Given the description of an element on the screen output the (x, y) to click on. 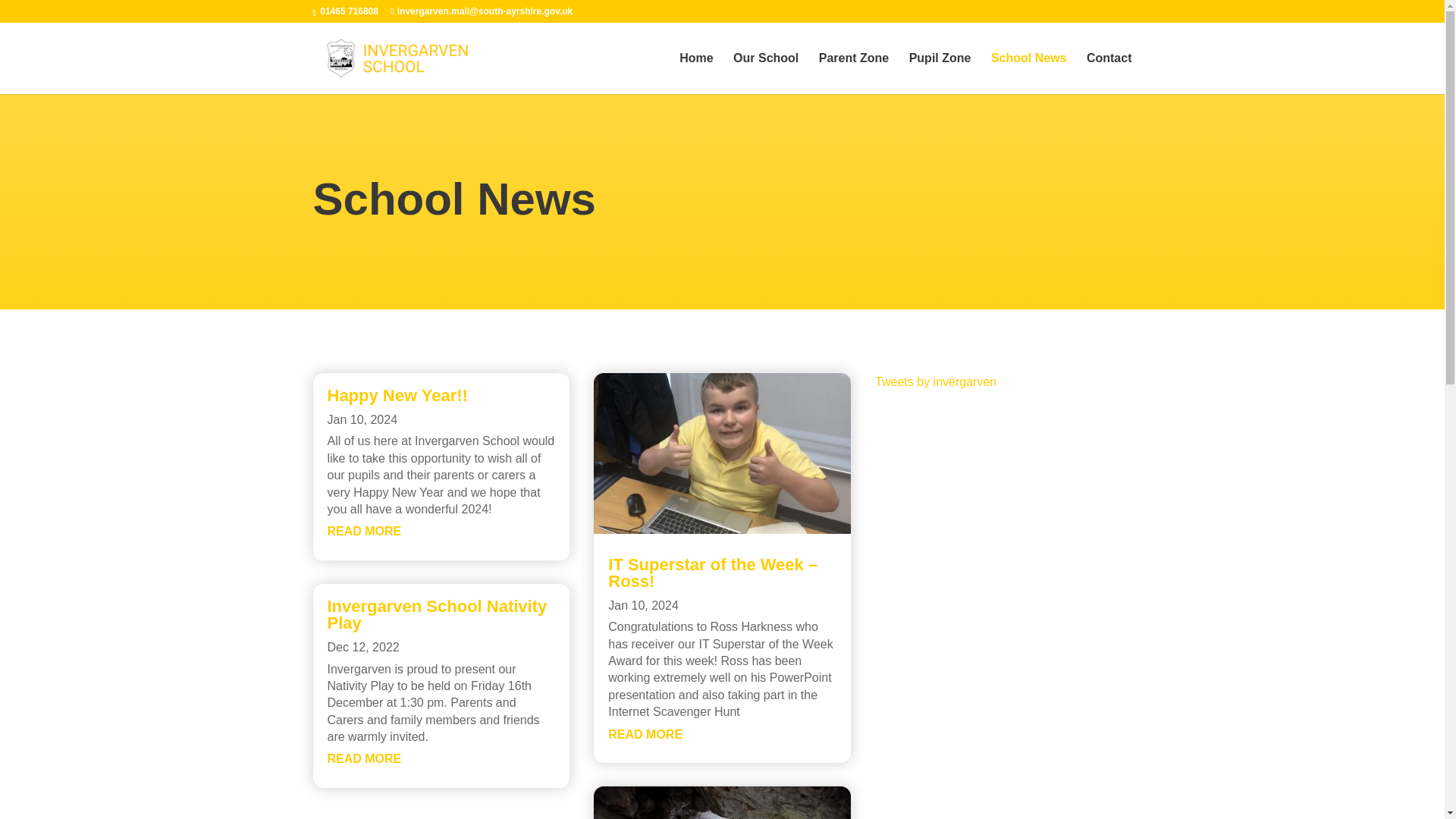
READ MORE (645, 734)
Parent Zone (853, 73)
Invergarven School Nativity Play (437, 614)
Our School (765, 73)
Pupil Zone (939, 73)
Tweets by invergarven (935, 381)
READ MORE (364, 758)
Happy New Year!! (397, 394)
School News (1029, 73)
READ MORE (364, 530)
